Given the description of an element on the screen output the (x, y) to click on. 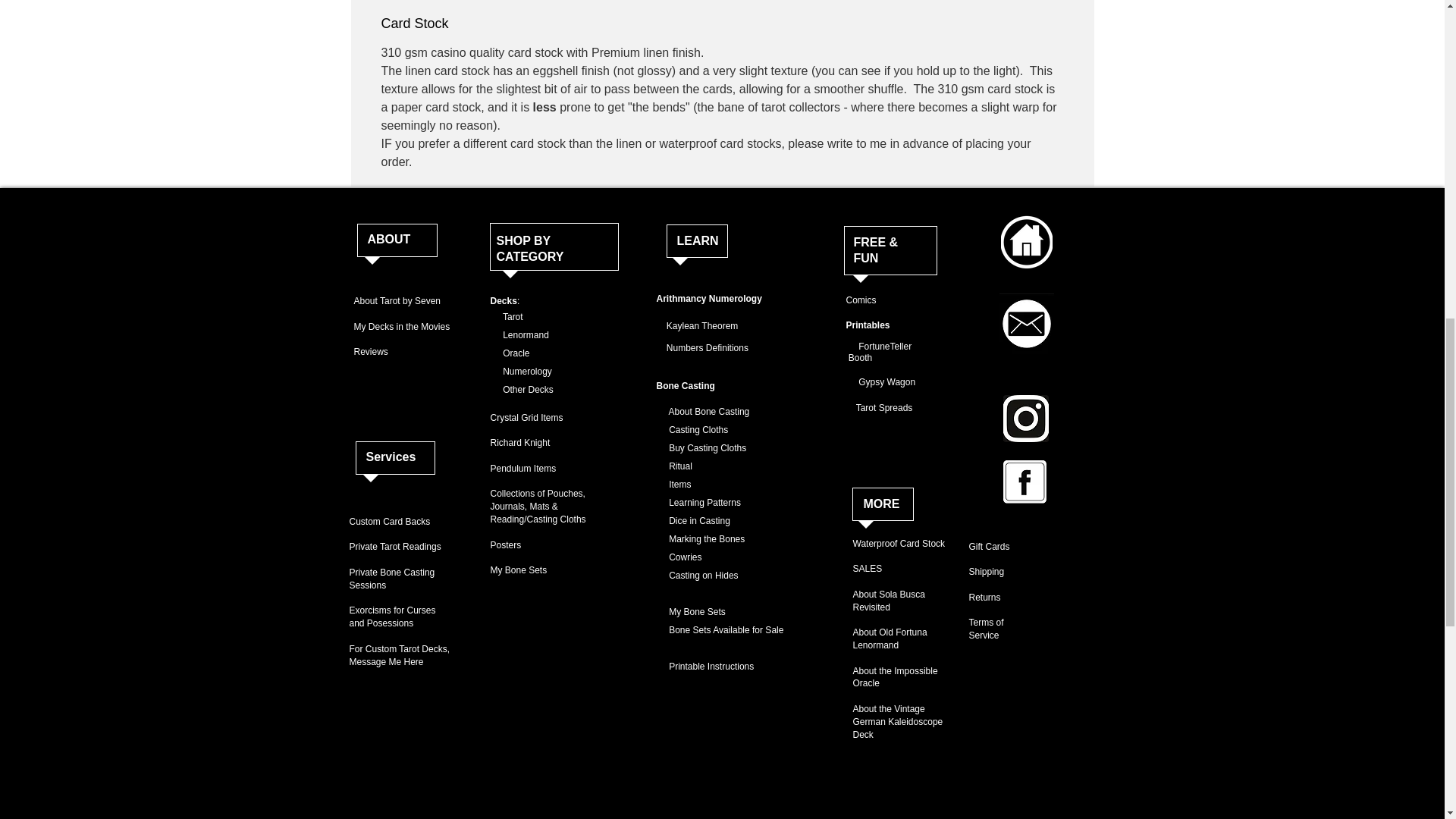
Private Tarot Readings (395, 546)
Posters (505, 544)
Custom Card Backs (389, 521)
Reviews (370, 351)
My Decks in the Movies (401, 326)
Exorcisms for Curses and Posessions (392, 616)
     Other Decks (521, 389)
My Bone Sets (518, 570)
     Oracle (509, 353)
About Tarot by Seven (397, 300)
